Given the description of an element on the screen output the (x, y) to click on. 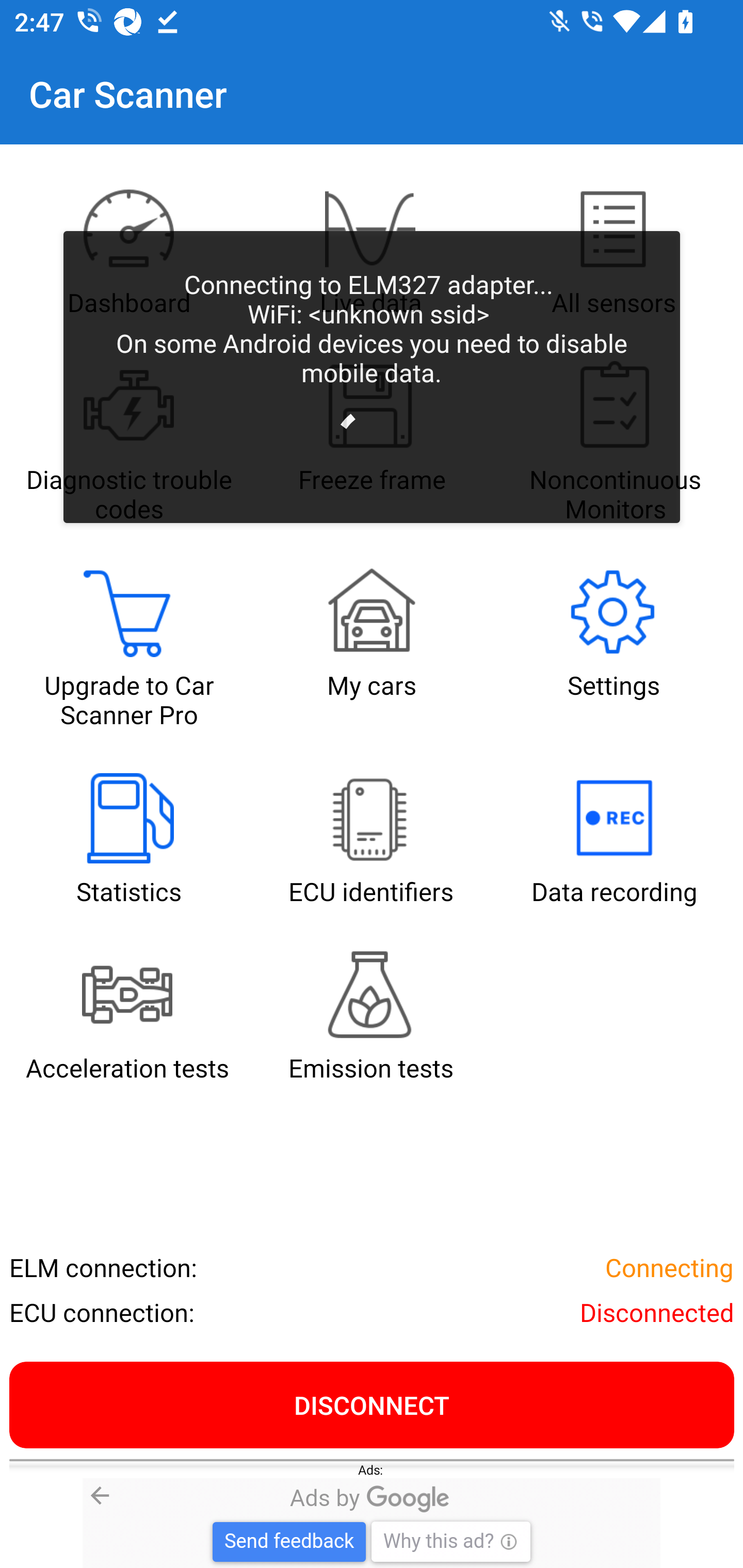
DISCONNECT (371, 1404)
